Given the description of an element on the screen output the (x, y) to click on. 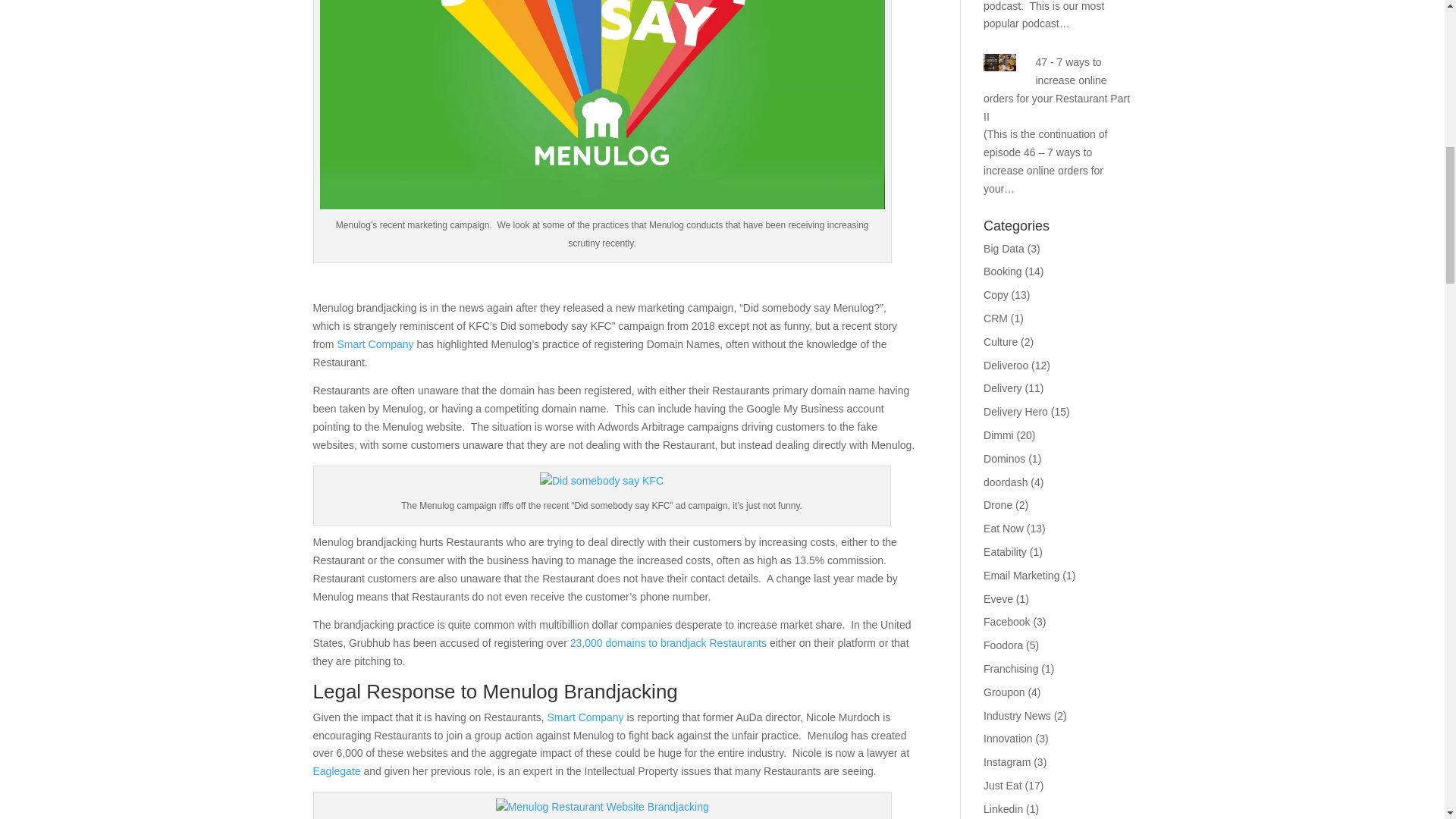
Smart Company (374, 344)
Smart Company (585, 717)
Eaglegate (336, 770)
23,000 domains to brandjack Restaurants (668, 643)
